Given the description of an element on the screen output the (x, y) to click on. 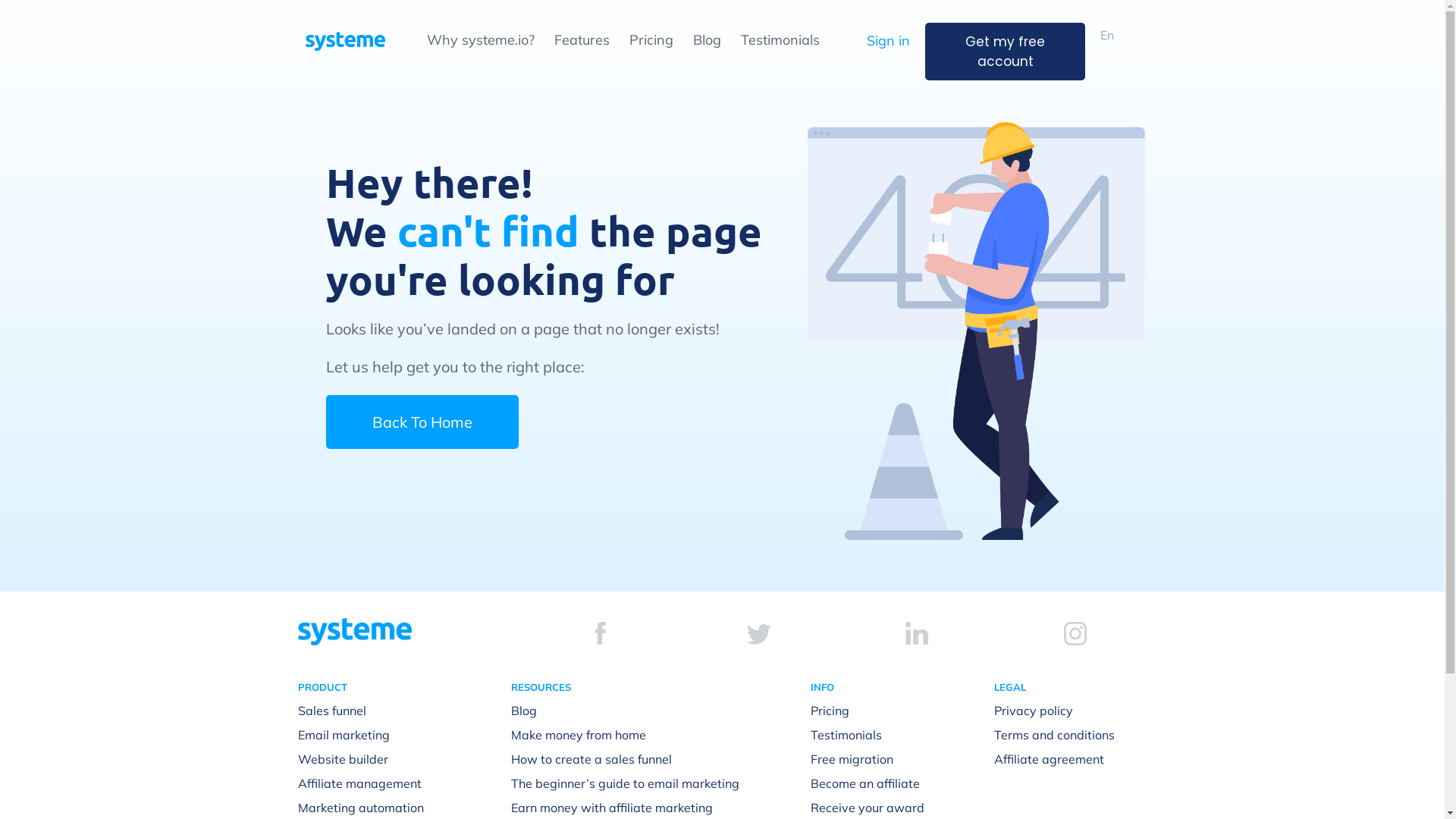
Terms and conditions Element type: text (1054, 734)
Email marketing Element type: text (343, 734)
Testimonials Element type: text (779, 39)
Why systeme.io? Element type: text (479, 39)
Free migration Element type: text (851, 758)
Make money from home Element type: text (578, 734)
Get my free account Element type: text (1005, 51)
Affiliate agreement Element type: text (1049, 758)
Website builder Element type: text (342, 758)
Privacy policy Element type: text (1033, 710)
Become an affiliate Element type: text (864, 782)
Sign in Element type: text (888, 40)
Back To Home Element type: text (422, 421)
Affiliate management Element type: text (358, 782)
Blog Element type: text (523, 710)
Earn money with affiliate marketing Element type: text (611, 807)
Pricing Element type: text (829, 710)
Marketing automation Element type: text (360, 807)
Sales funnel Element type: text (331, 710)
Receive your award Element type: text (867, 807)
How to create a sales funnel Element type: text (591, 758)
Features Element type: text (580, 39)
Blog Element type: text (707, 39)
Pricing Element type: text (651, 39)
Testimonials Element type: text (845, 734)
